Given the description of an element on the screen output the (x, y) to click on. 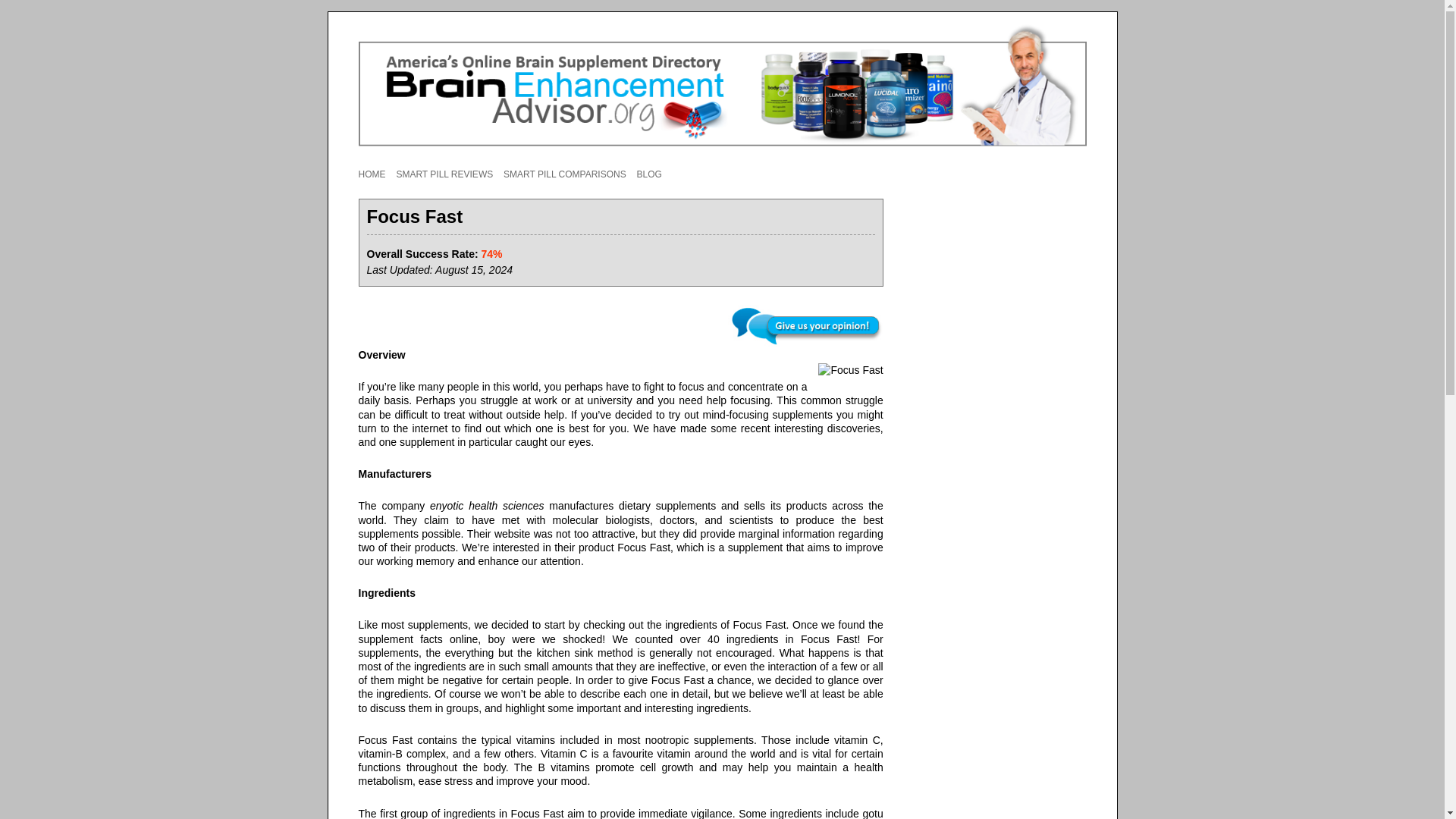
SMART PILL REVIEWS (444, 174)
Skip to content (757, 163)
PILLS THAT MAKE YOU SMARTER (435, 202)
FOR ADULTS (472, 202)
Skip to content (757, 163)
